Given the description of an element on the screen output the (x, y) to click on. 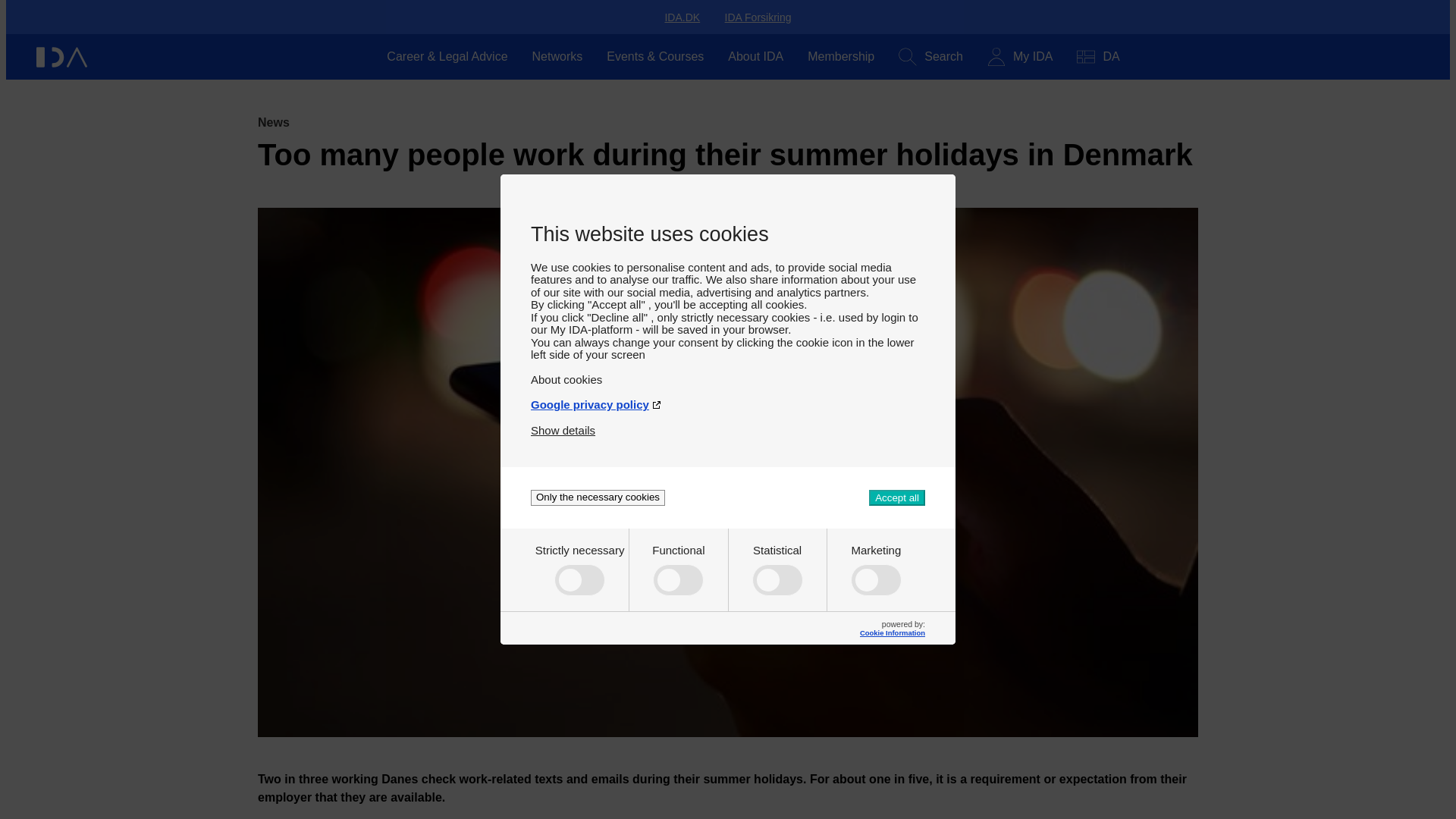
Google privacy policy (727, 398)
About cookies (727, 373)
Show details (563, 423)
